Given the description of an element on the screen output the (x, y) to click on. 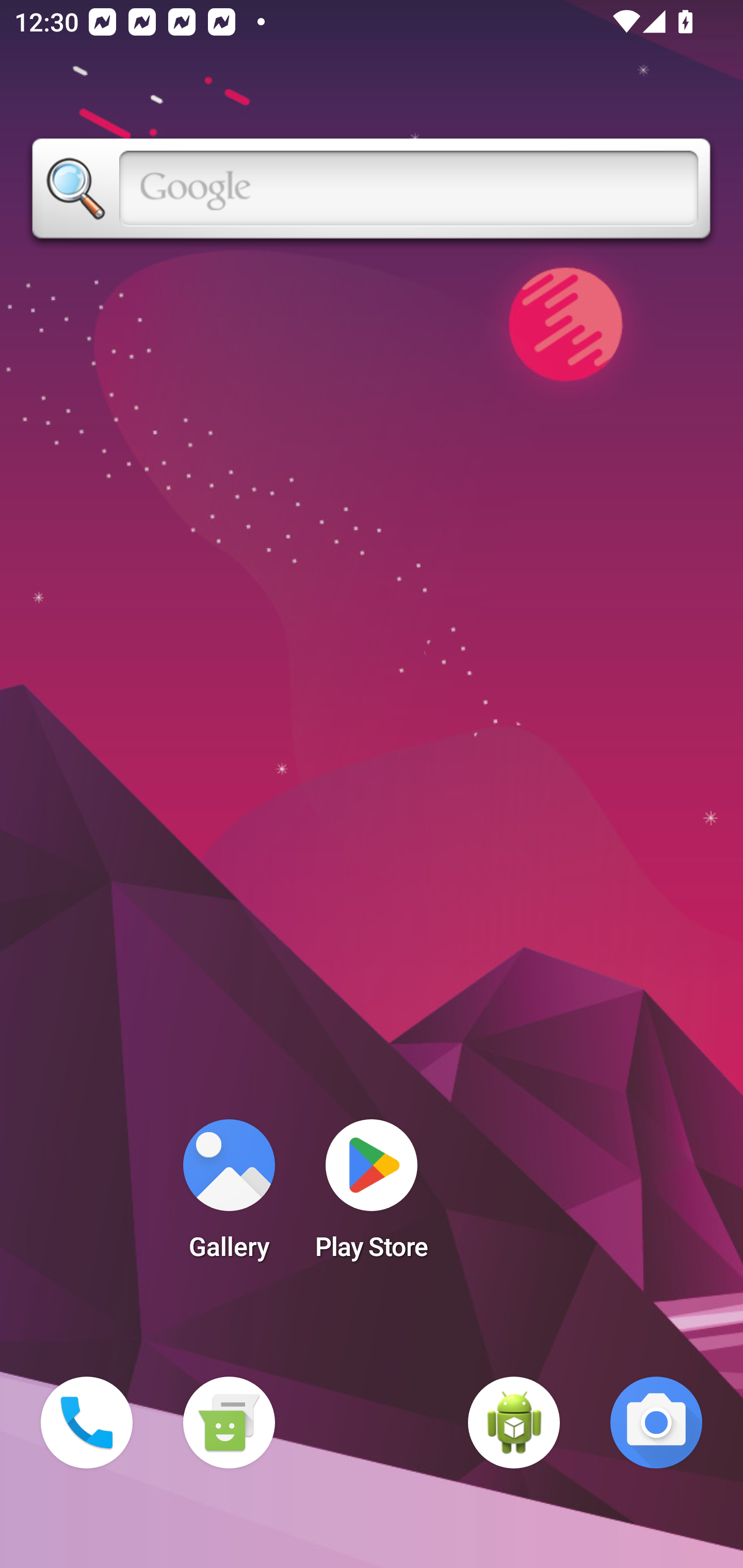
Gallery (228, 1195)
Play Store (371, 1195)
Phone (86, 1422)
Messaging (228, 1422)
WebView Browser Tester (513, 1422)
Camera (656, 1422)
